Given the description of an element on the screen output the (x, y) to click on. 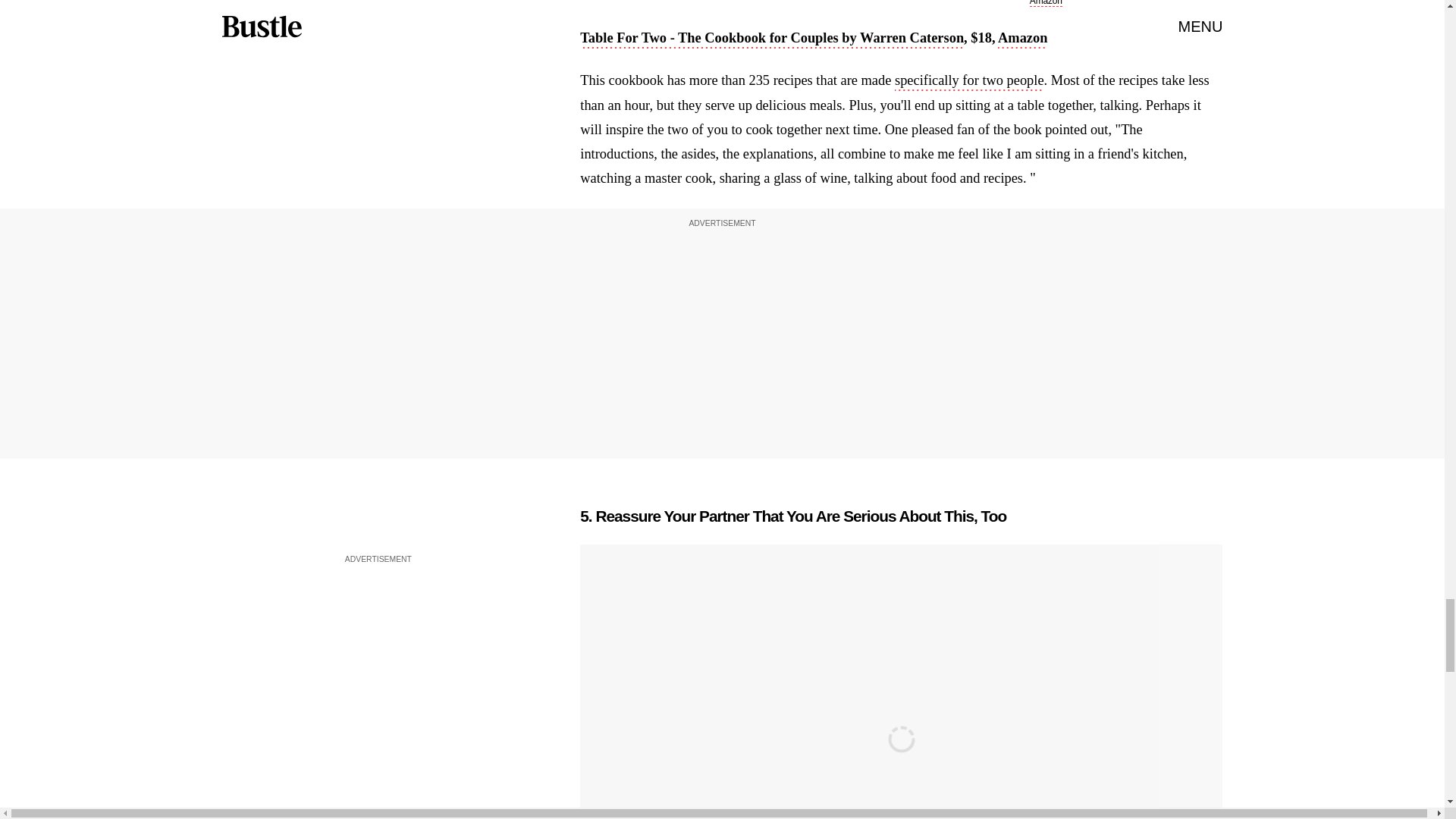
specifically for two people (969, 81)
Amazon (1021, 39)
Amazon (1045, 3)
Table For Two - The Cookbook for Couples by Warren Caterson (771, 39)
